Given the description of an element on the screen output the (x, y) to click on. 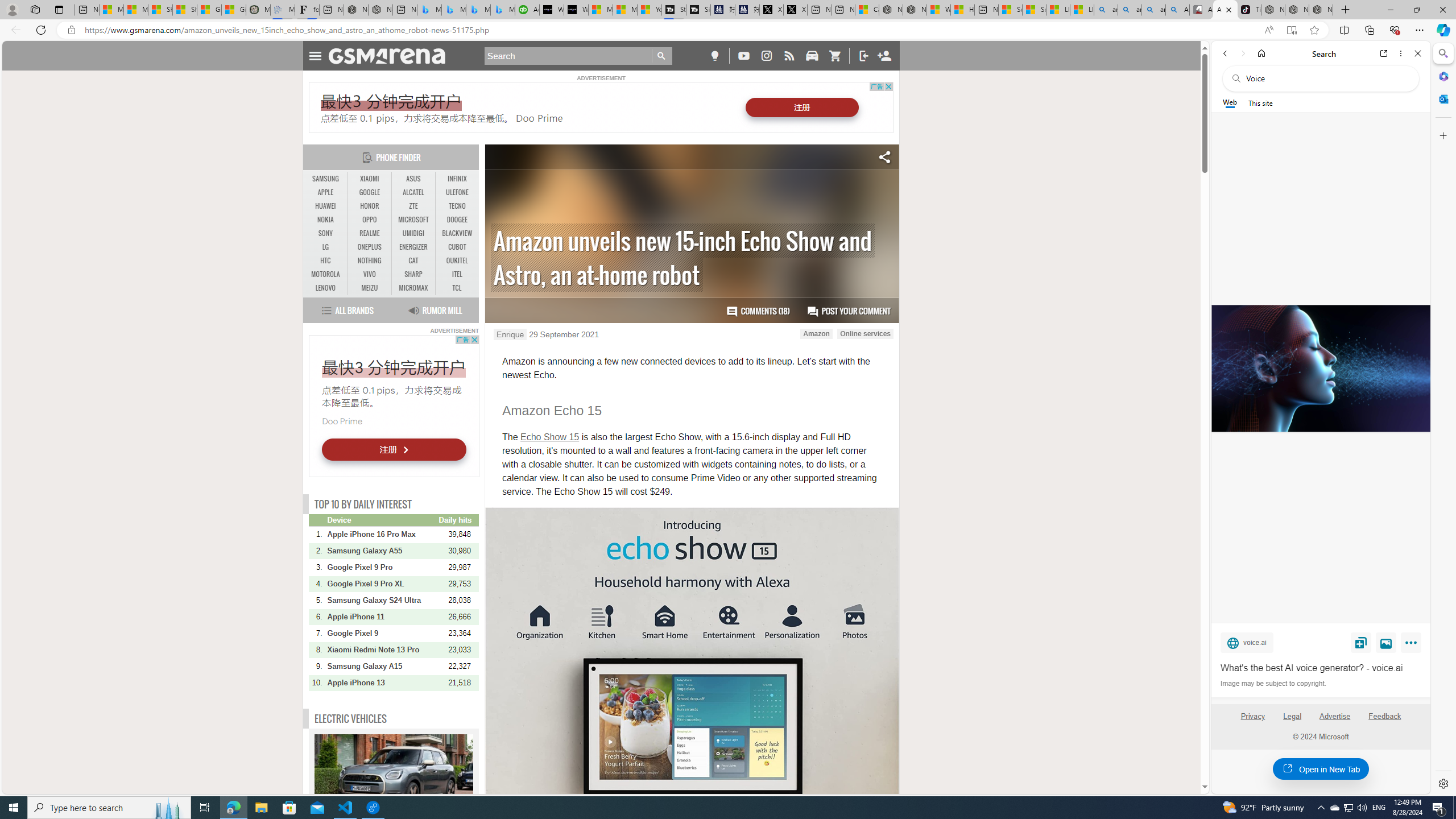
OPPO (369, 219)
UMIDIGI (413, 233)
Legal (1291, 715)
SAMSUNG (325, 178)
Outlook (1442, 98)
Xiaomi Redmi Note 13 Pro (381, 649)
NOTHING (369, 260)
MICROSOFT (413, 219)
Microsoft Bing Travel - Stays in Bangkok, Bangkok, Thailand (453, 9)
